Given the description of an element on the screen output the (x, y) to click on. 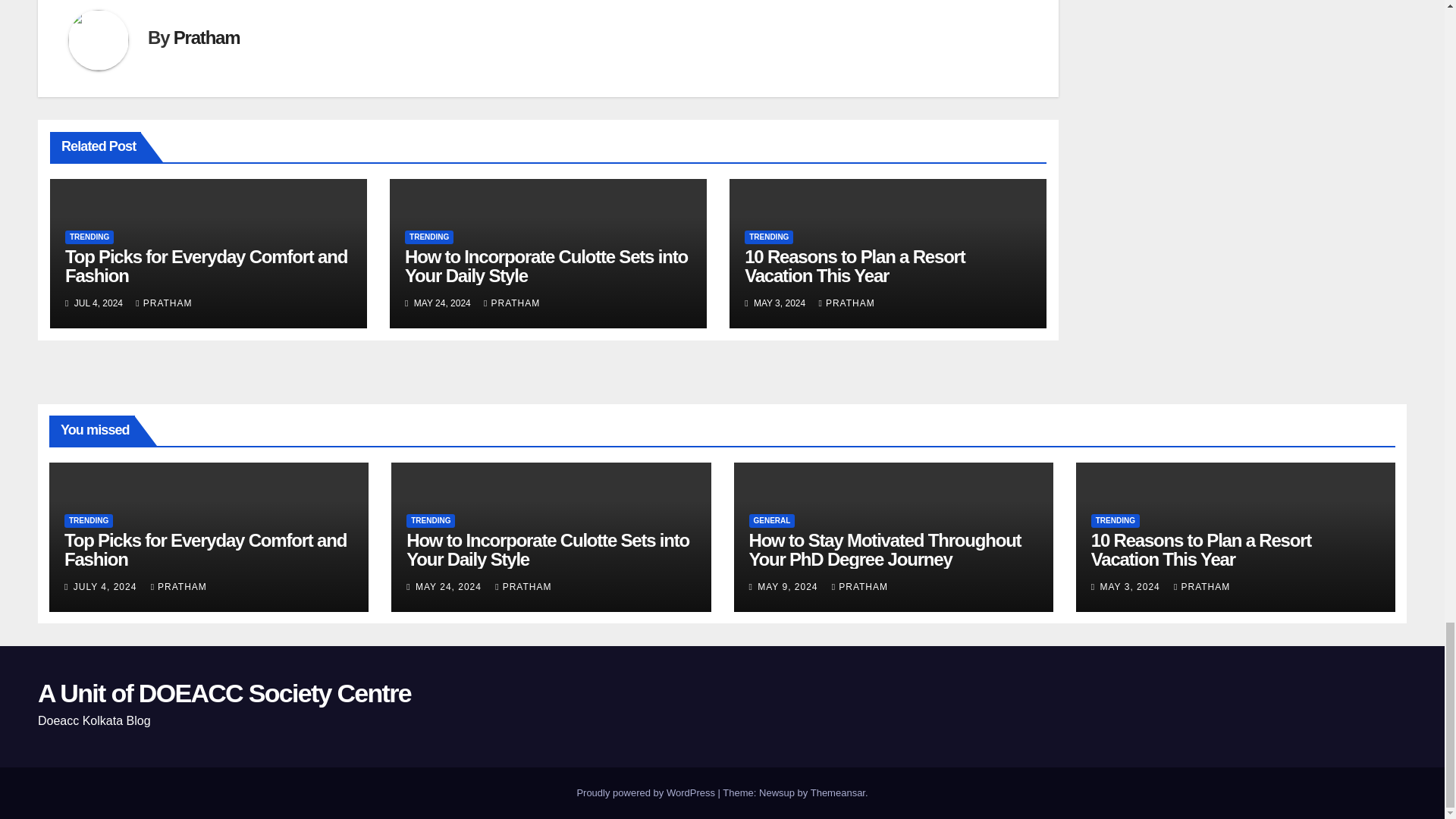
PRATHAM (163, 303)
Top Picks for Everyday Comfort and Fashion (206, 265)
Permalink to: 10 Reasons to Plan a Resort Vacation This Year (1200, 549)
TRENDING (428, 237)
Permalink to: Top Picks for Everyday Comfort and Fashion (205, 549)
Permalink to: 10 Reasons to Plan a Resort Vacation This Year (853, 265)
Pratham (206, 37)
Permalink to: Top Picks for Everyday Comfort and Fashion (206, 265)
TRENDING (89, 237)
How to Incorporate Culotte Sets into Your Daily Style (545, 265)
